Given the description of an element on the screen output the (x, y) to click on. 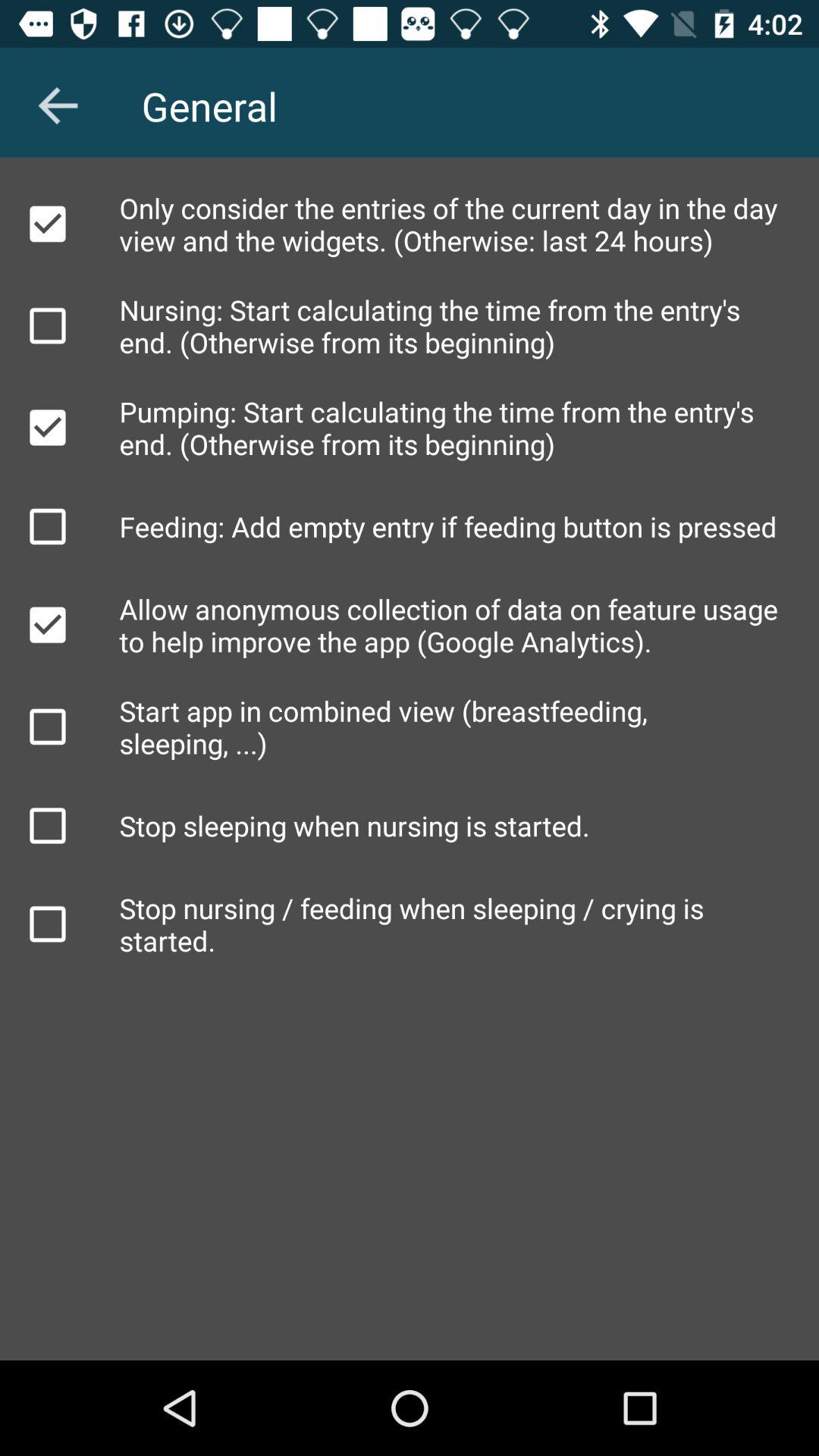
open the icon above only consider the item (57, 105)
